Given the description of an element on the screen output the (x, y) to click on. 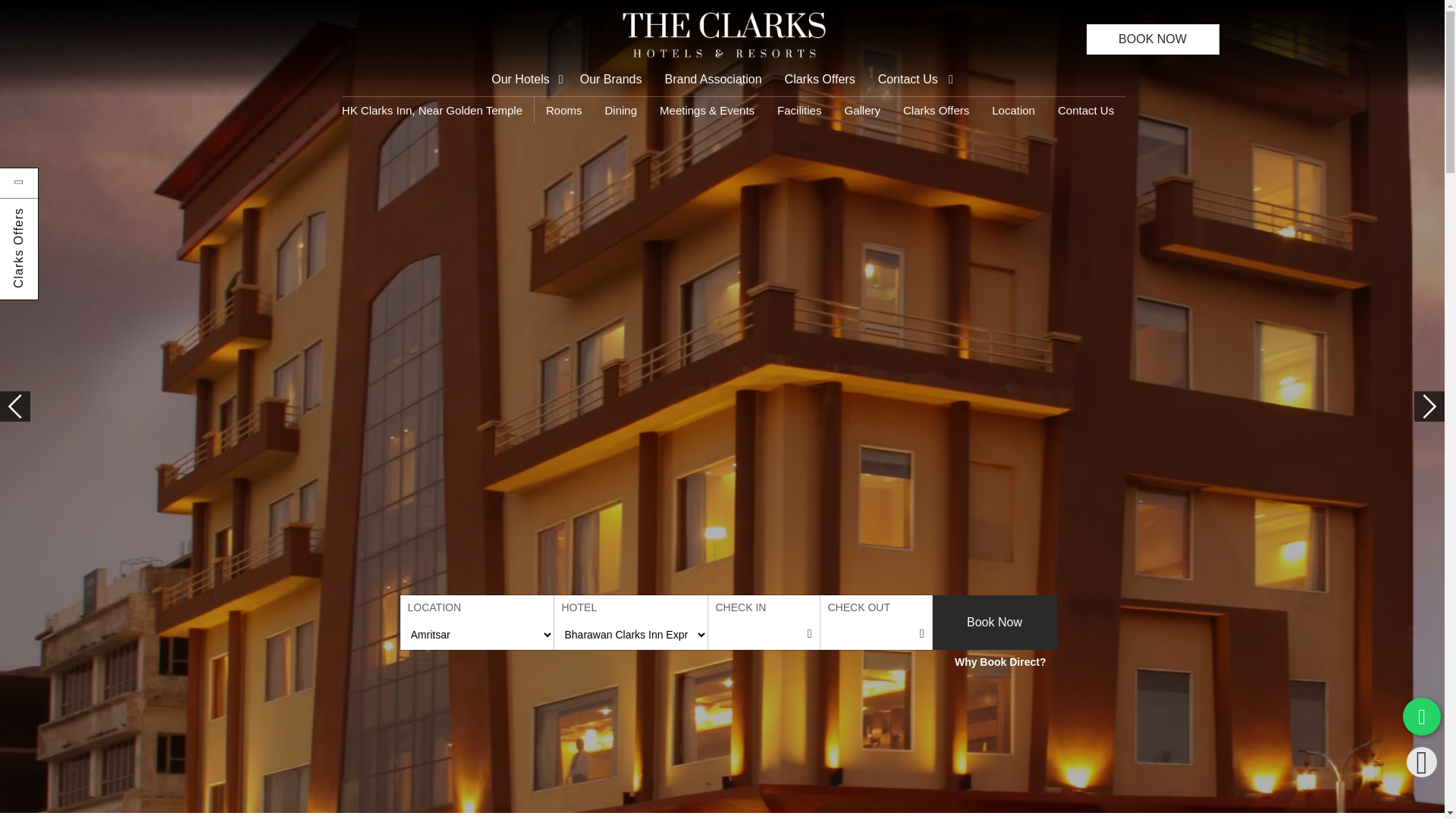
Our Hotels (529, 79)
BOOK NOW (1152, 39)
Book Now (995, 622)
